Given the description of an element on the screen output the (x, y) to click on. 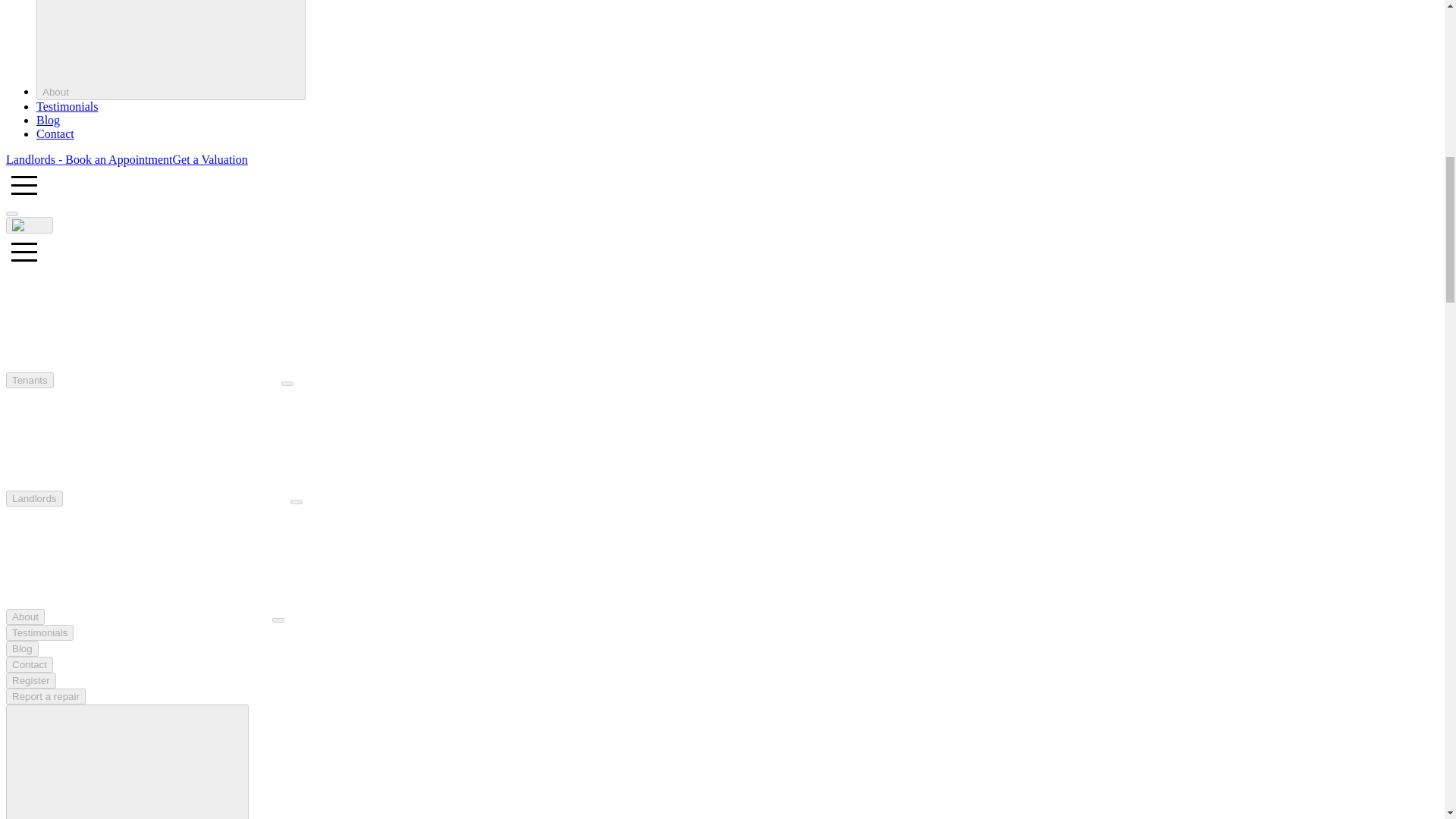
About (170, 49)
Testimonials (67, 106)
Register (30, 680)
Report a repair (45, 696)
About (25, 616)
Blog (22, 648)
Tenants (29, 380)
Contact (55, 133)
Landlords - Book an Appointment (89, 159)
Get a Valuation (210, 159)
Contact (28, 664)
Landlords (33, 498)
Blog (47, 119)
Testimonials (39, 632)
